Given the description of an element on the screen output the (x, y) to click on. 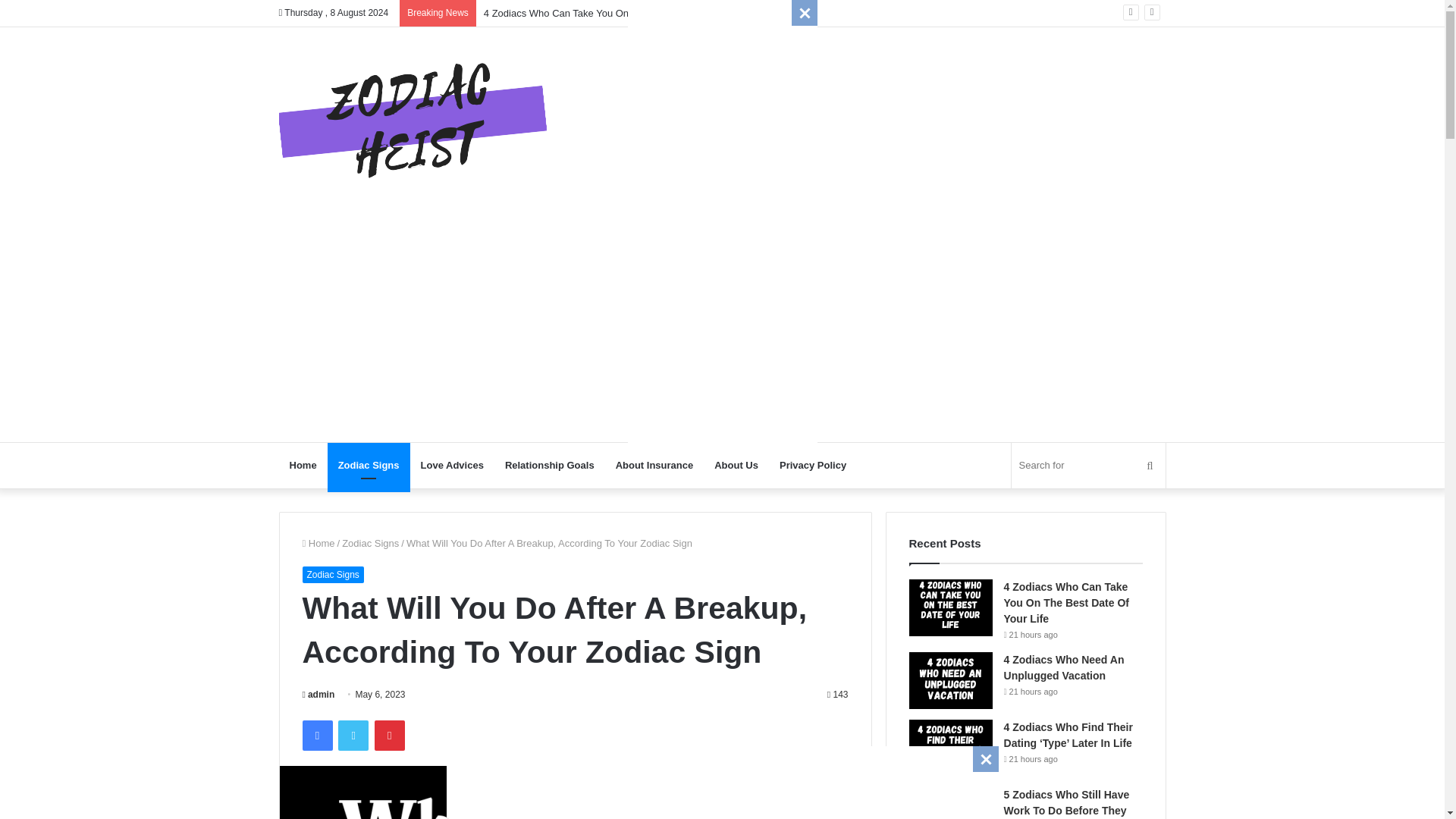
Zodiac Signs (370, 542)
About Insurance (654, 465)
Pinterest (389, 735)
Search for (1088, 465)
Twitter (352, 735)
Zodiac Signs (331, 574)
Home (317, 542)
4 Zodiacs Who Can Take You On The Best Date Of Your Life (1066, 602)
Advertisement (721, 780)
Privacy Policy (812, 465)
